Given the description of an element on the screen output the (x, y) to click on. 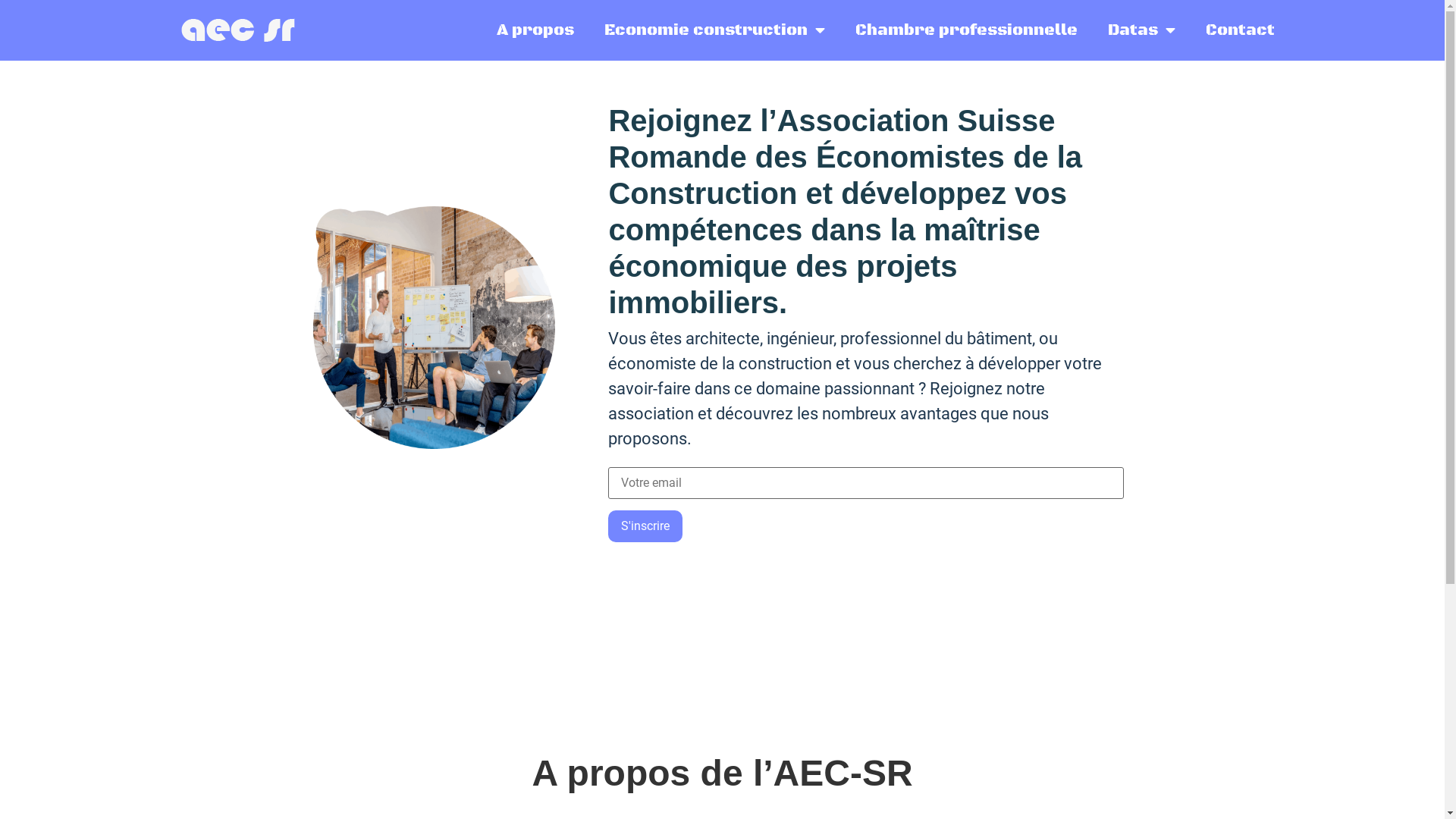
Economie construction Element type: text (714, 30)
Datas Element type: text (1141, 30)
Contact Element type: text (1239, 30)
A propos Element type: text (535, 30)
Chambre professionnelle Element type: text (966, 30)
S'inscrire Element type: text (645, 526)
